Given the description of an element on the screen output the (x, y) to click on. 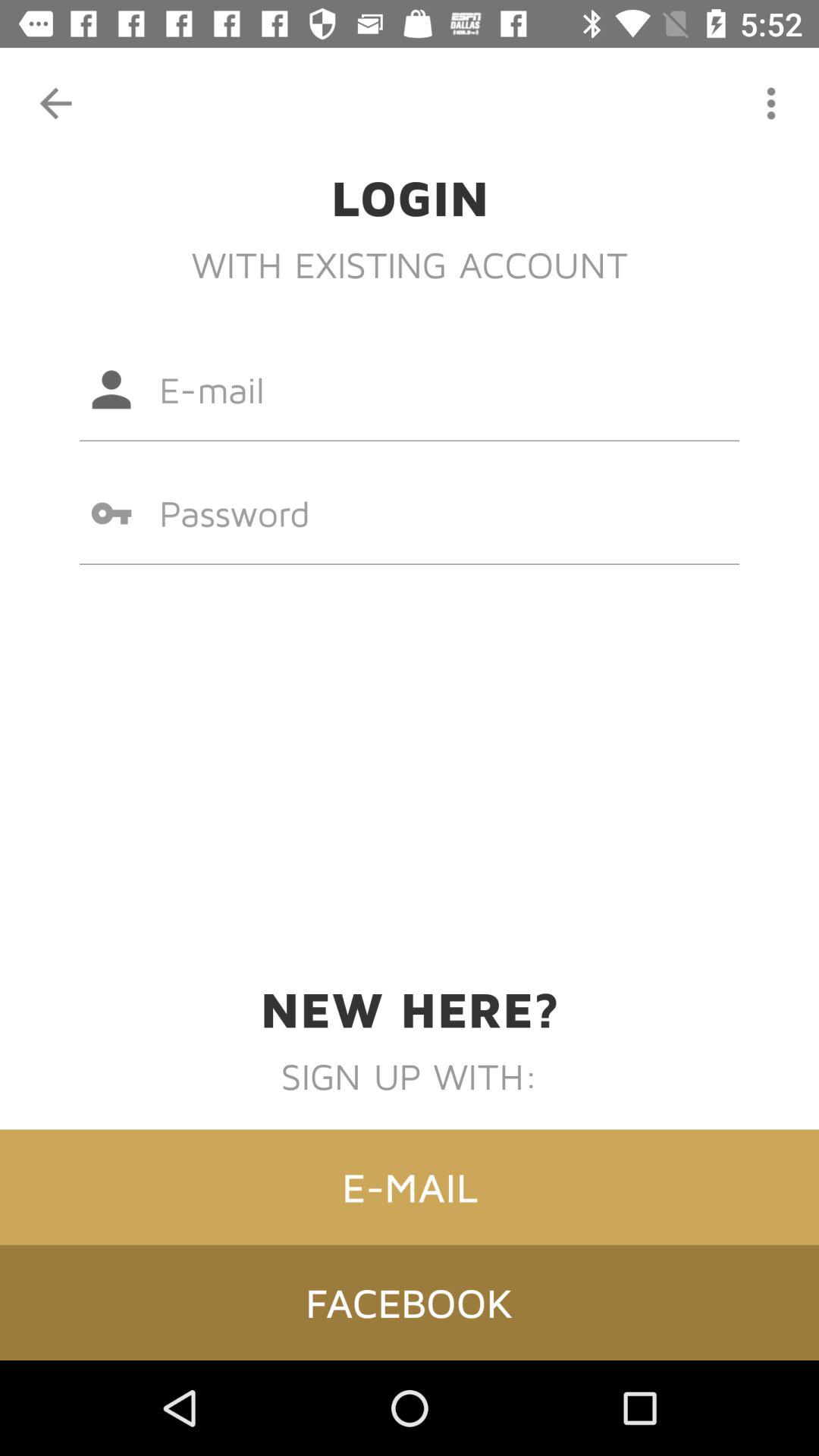
press the item above facebook (409, 1186)
